Given the description of an element on the screen output the (x, y) to click on. 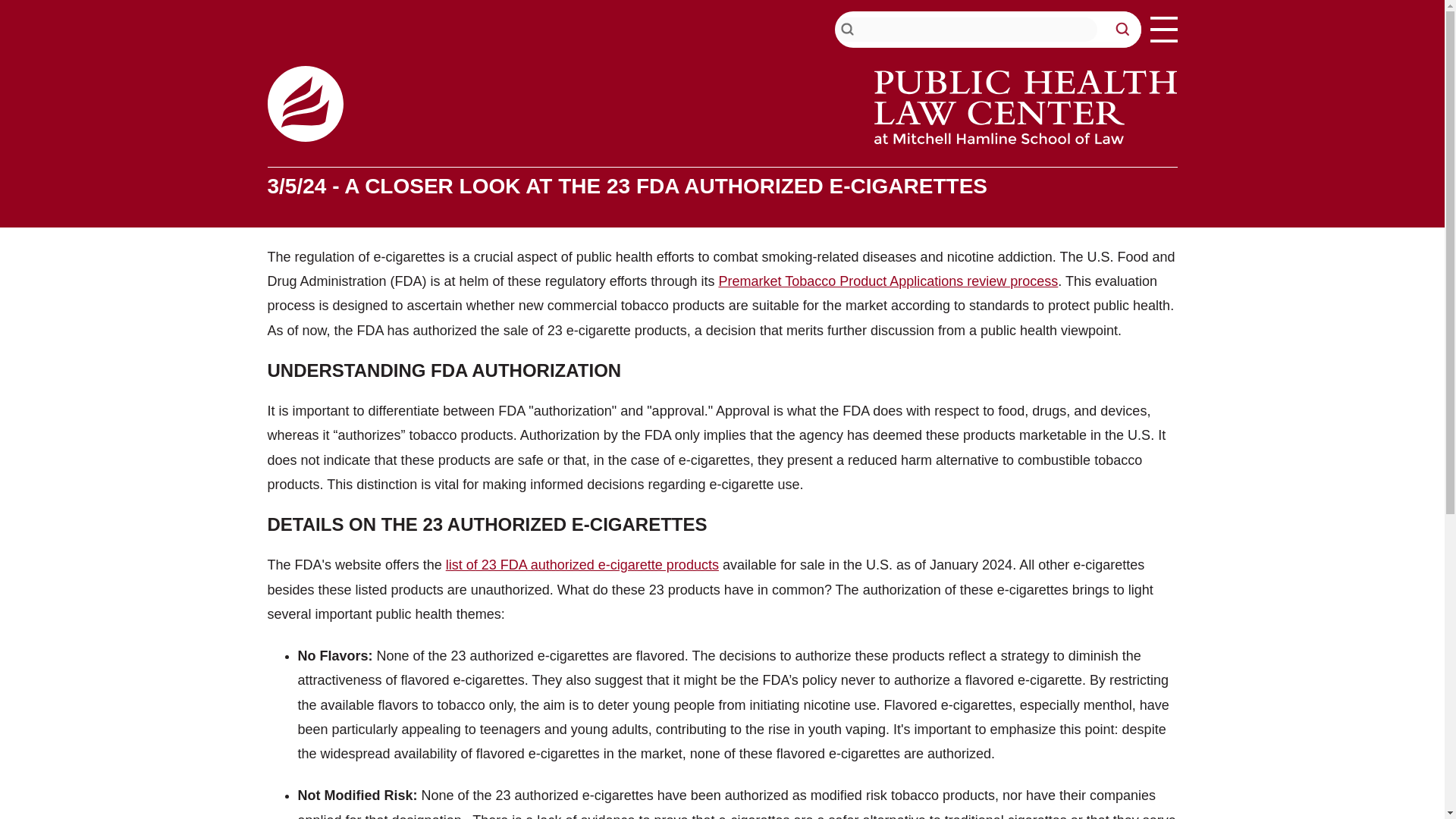
Search (1121, 29)
Premarket Tobacco Product Applications review process (887, 281)
Home (1024, 107)
list of 23 FDA authorized e-cigarette products (582, 564)
Search (1121, 29)
Public Health Law Center (304, 103)
